Given the description of an element on the screen output the (x, y) to click on. 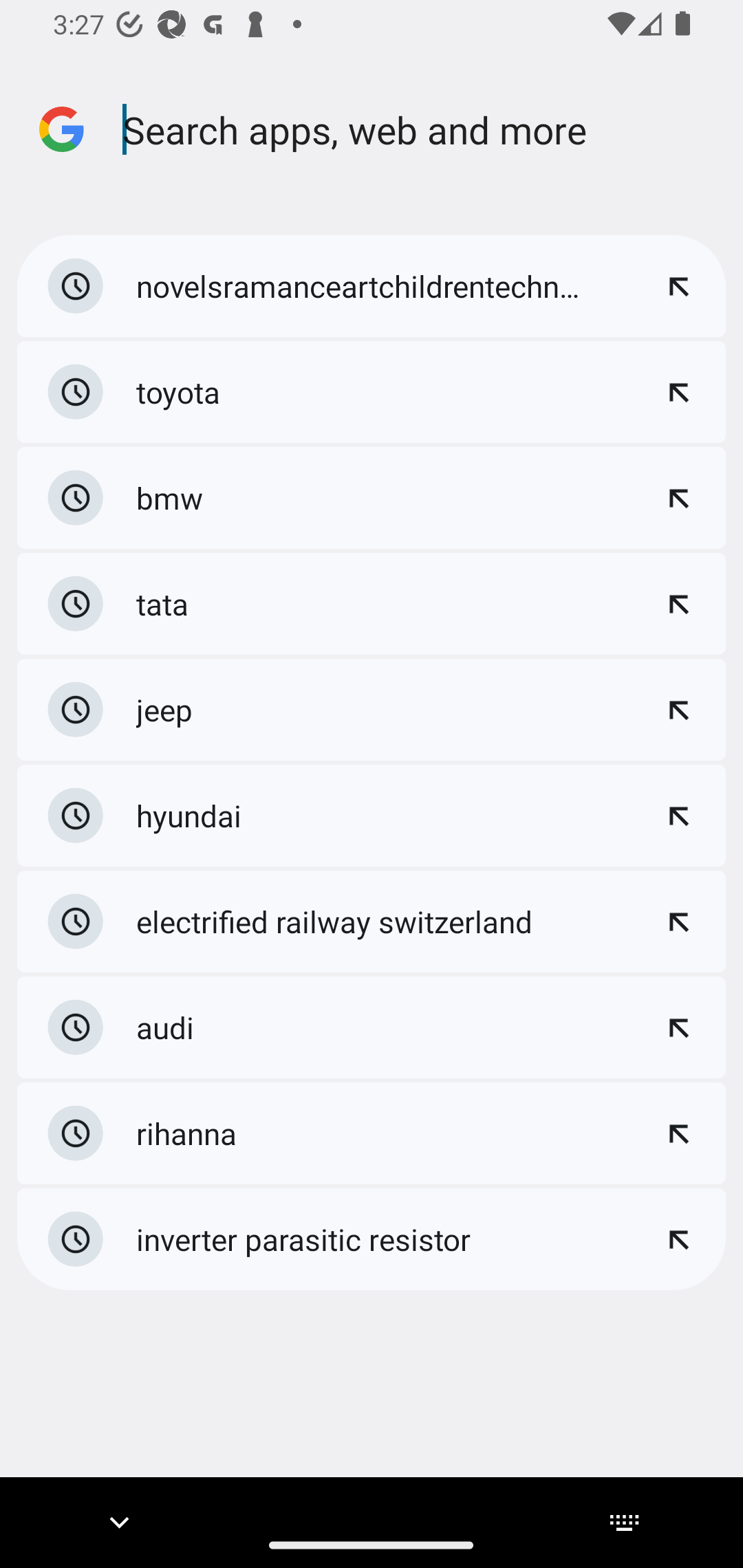
Search apps, web and more (428, 129)
Show predictions for toyota (678, 391)
bmw bmw Search bmw Show predictions for bmw (371, 497)
Show predictions for bmw (678, 497)
tata tata Search tata Show predictions for tata (371, 603)
Show predictions for tata (678, 603)
jeep jeep Search jeep Show predictions for jeep (371, 709)
Show predictions for jeep (678, 709)
Show predictions for hyundai (678, 814)
audi audi Search audi Show predictions for audi (371, 1026)
Show predictions for audi (678, 1026)
Show predictions for rihanna (678, 1133)
Show predictions for inverter parasitic resistor (678, 1238)
